Given the description of an element on the screen output the (x, y) to click on. 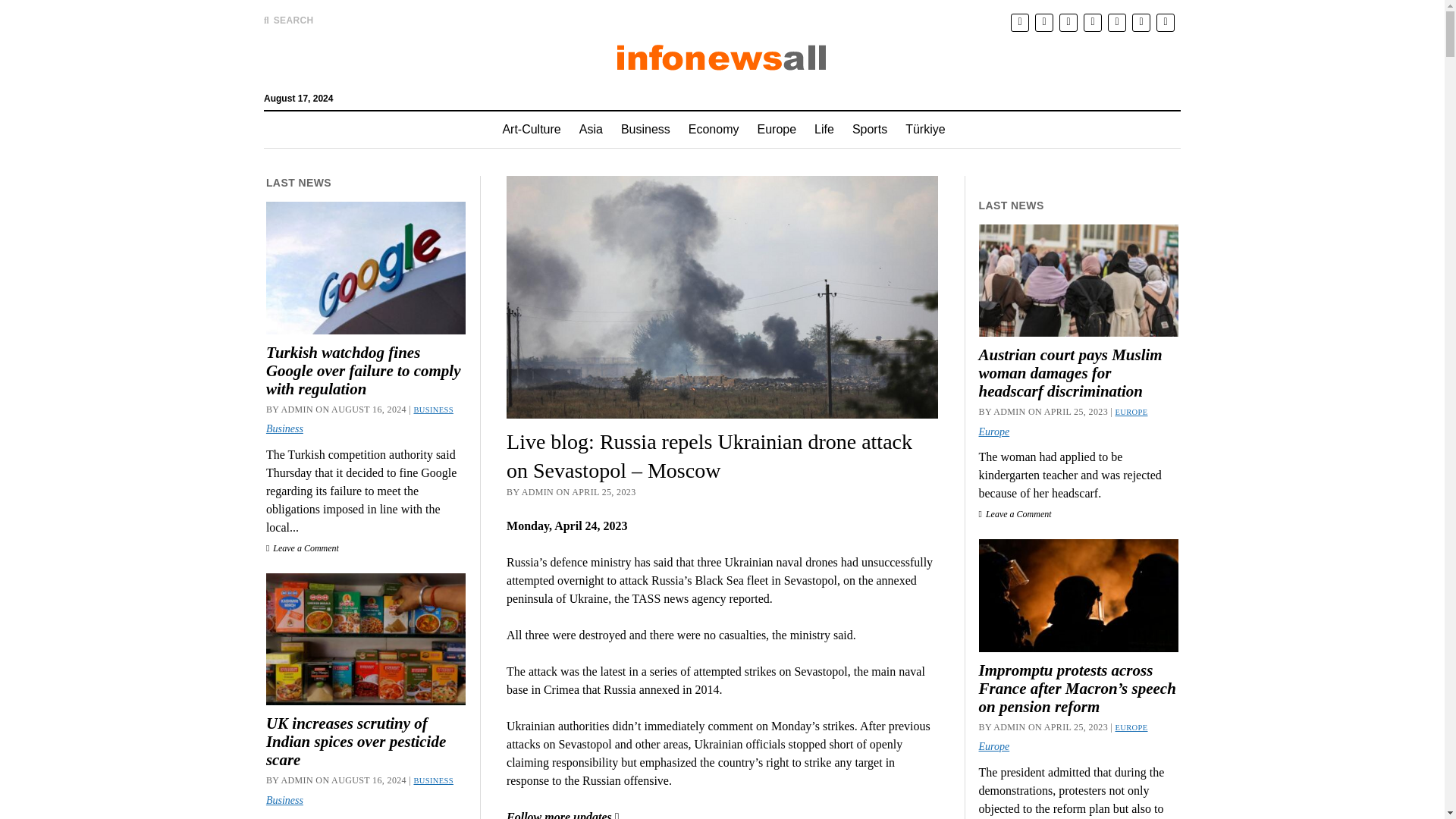
View all posts in Business (432, 780)
Europe (776, 129)
Art-Culture (531, 129)
Economy (713, 129)
Leave a Comment (302, 547)
BUSINESS (432, 409)
Asia (590, 129)
Life (824, 129)
UK increases scrutiny of Indian spices over pesticide scare (365, 741)
